Given the description of an element on the screen output the (x, y) to click on. 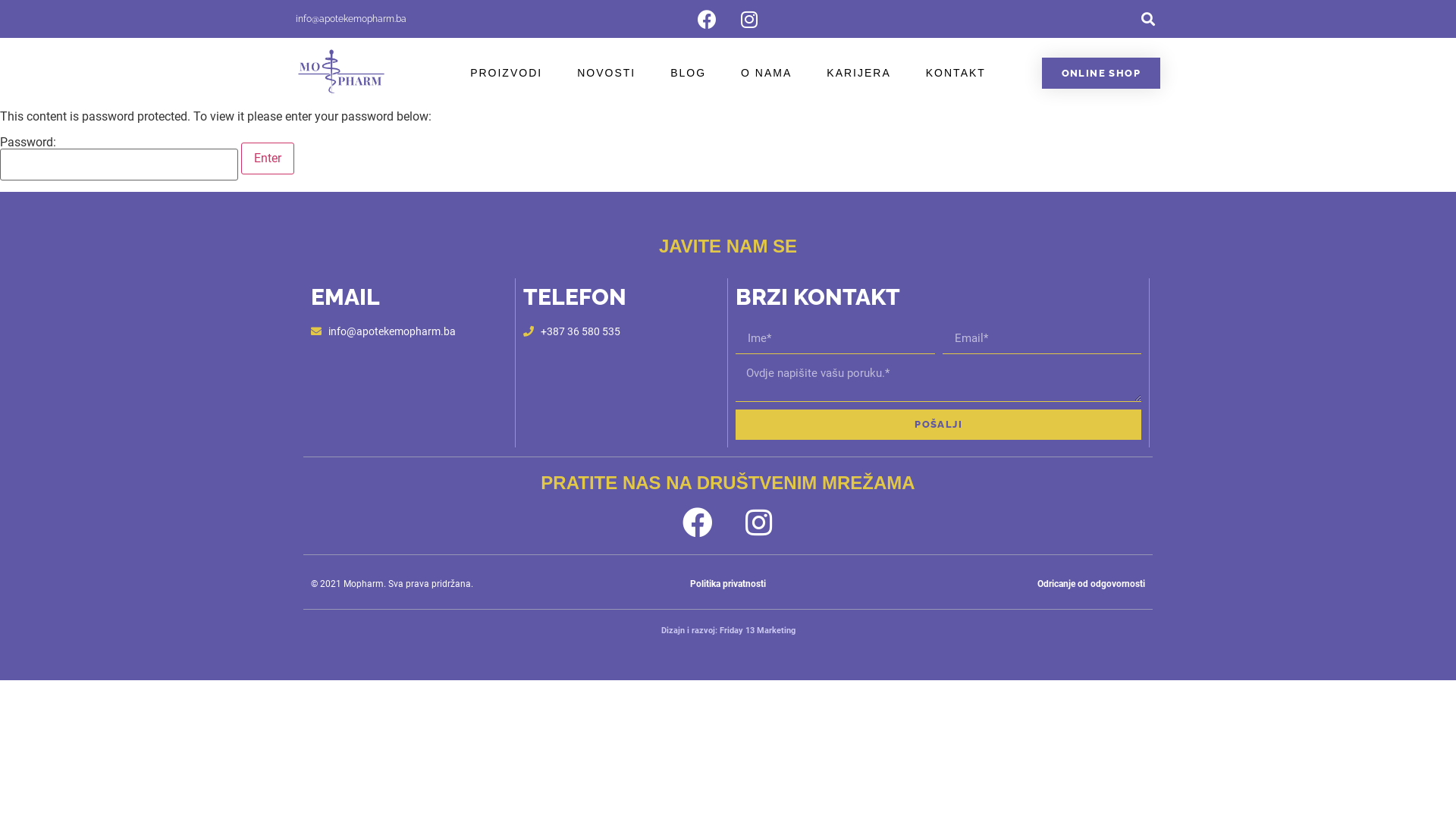
KONTAKT Element type: text (955, 72)
Politika privatnosti Element type: text (727, 583)
ONLINE SHOP Element type: text (1100, 72)
Dizajn i razvoj: Friday 13 Marketing Element type: text (728, 630)
Enter Element type: text (267, 158)
Odricanje od odgovornosti Element type: text (1091, 583)
NOVOSTI Element type: text (605, 72)
O NAMA Element type: text (765, 72)
PROIZVODI Element type: text (506, 72)
BLOG Element type: text (688, 72)
KARIJERA Element type: text (858, 72)
